Given the description of an element on the screen output the (x, y) to click on. 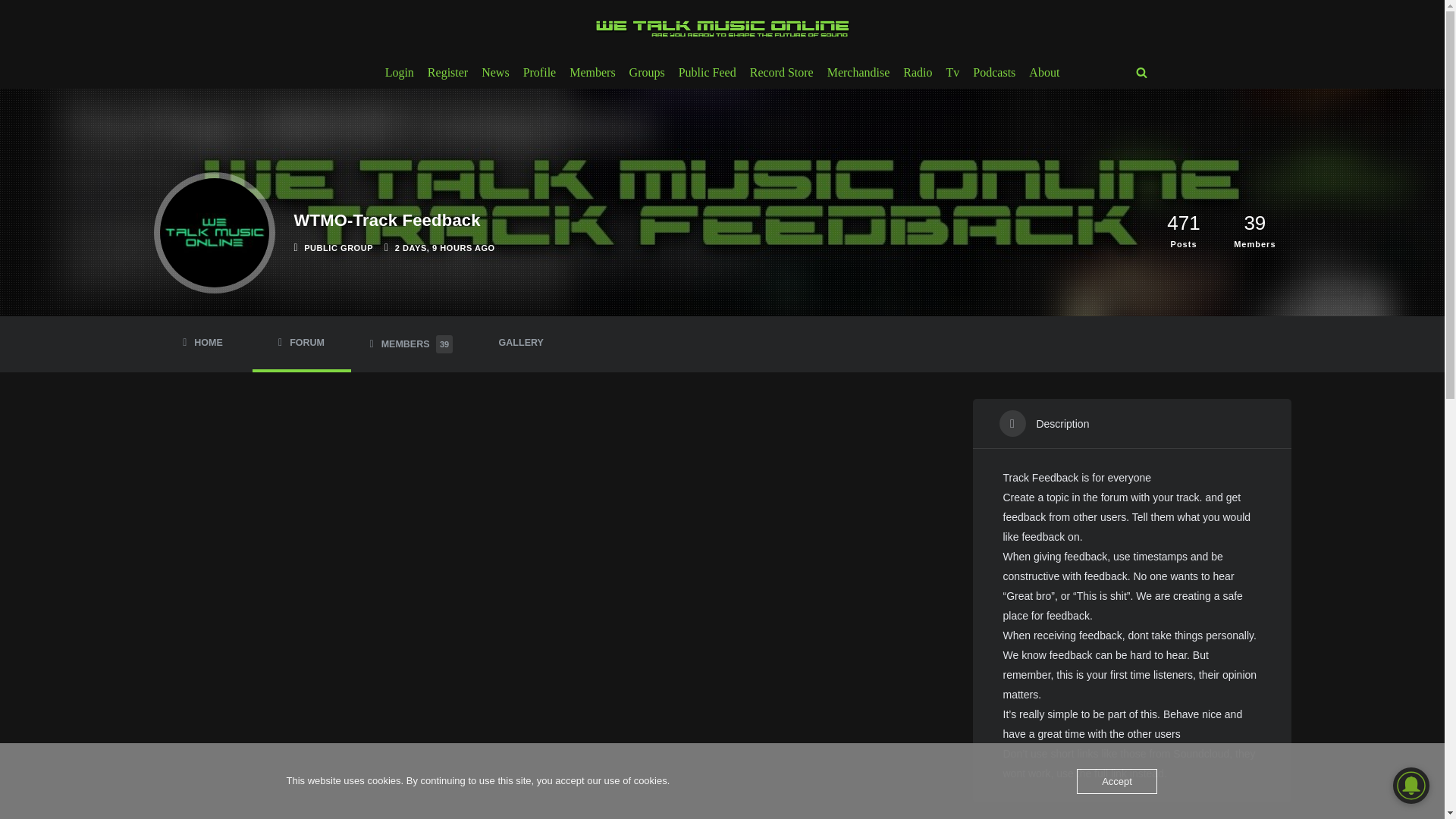
39 (1254, 221)
HOME (201, 342)
471 (1183, 221)
About (1044, 72)
Public Feed (707, 72)
Members (591, 72)
Record Store (781, 72)
Skip to content (11, 31)
Radio (916, 72)
Profile (539, 72)
Register (447, 72)
Login (399, 72)
News (494, 72)
FORUM (300, 342)
